Given the description of an element on the screen output the (x, y) to click on. 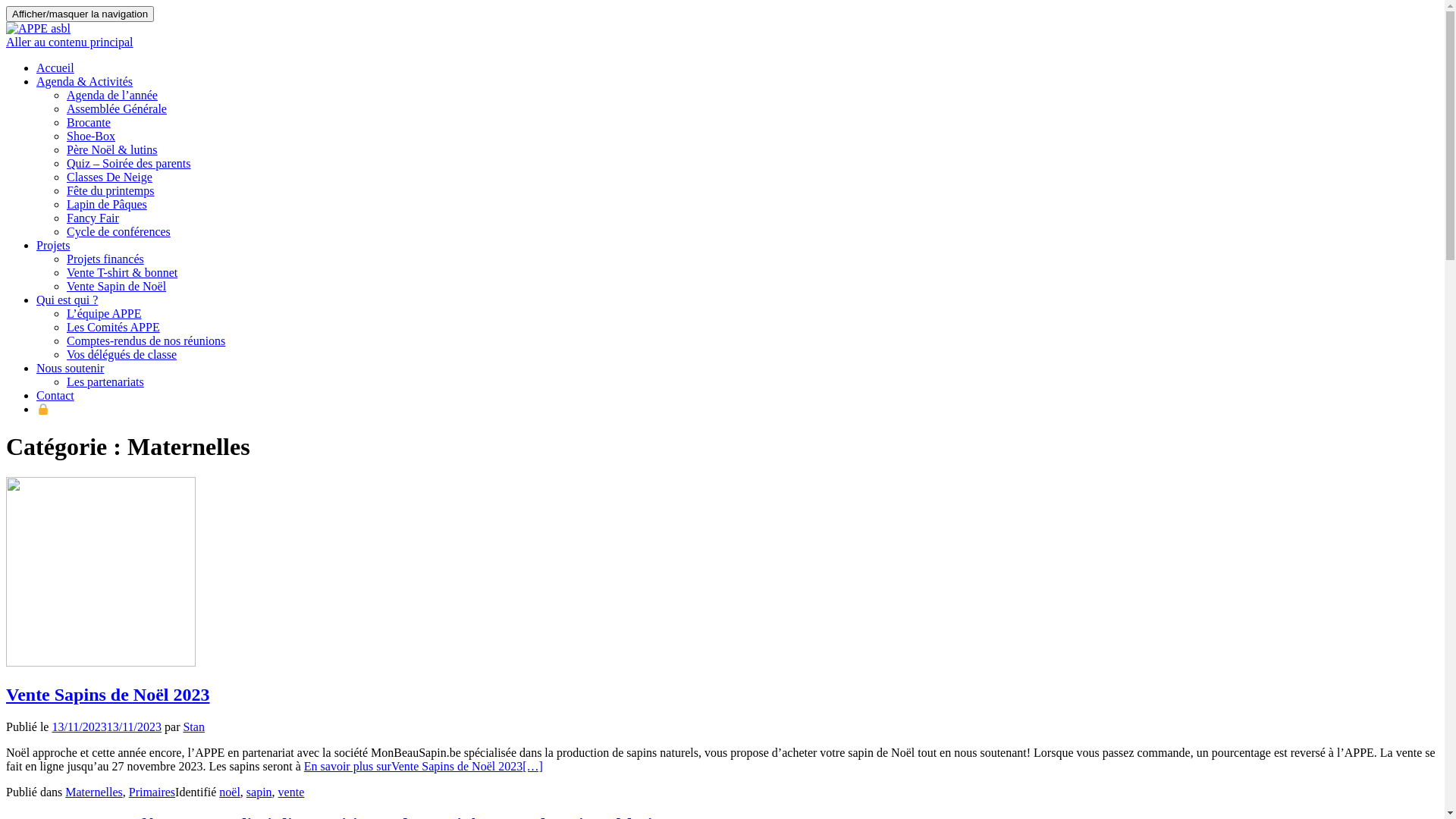
vente Element type: text (291, 791)
Classes De Neige Element type: text (109, 176)
Aller au contenu principal Element type: text (69, 41)
Accueil Element type: text (55, 67)
Qui est qui ? Element type: text (66, 299)
Les partenariats Element type: text (105, 381)
Brocante Element type: text (88, 122)
Shoe-Box Element type: text (90, 135)
Vente T-shirt & bonnet Element type: text (121, 272)
Primaires Element type: text (151, 791)
13/11/202313/11/2023 Element type: text (106, 726)
sapin Element type: text (259, 791)
Fancy Fair Element type: text (92, 217)
Maternelles Element type: text (93, 791)
Contact Element type: text (55, 395)
Afficher/masquer la navigation Element type: text (79, 13)
Stan Element type: text (192, 726)
Nous soutenir Element type: text (69, 367)
Projets Element type: text (52, 244)
